Given the description of an element on the screen output the (x, y) to click on. 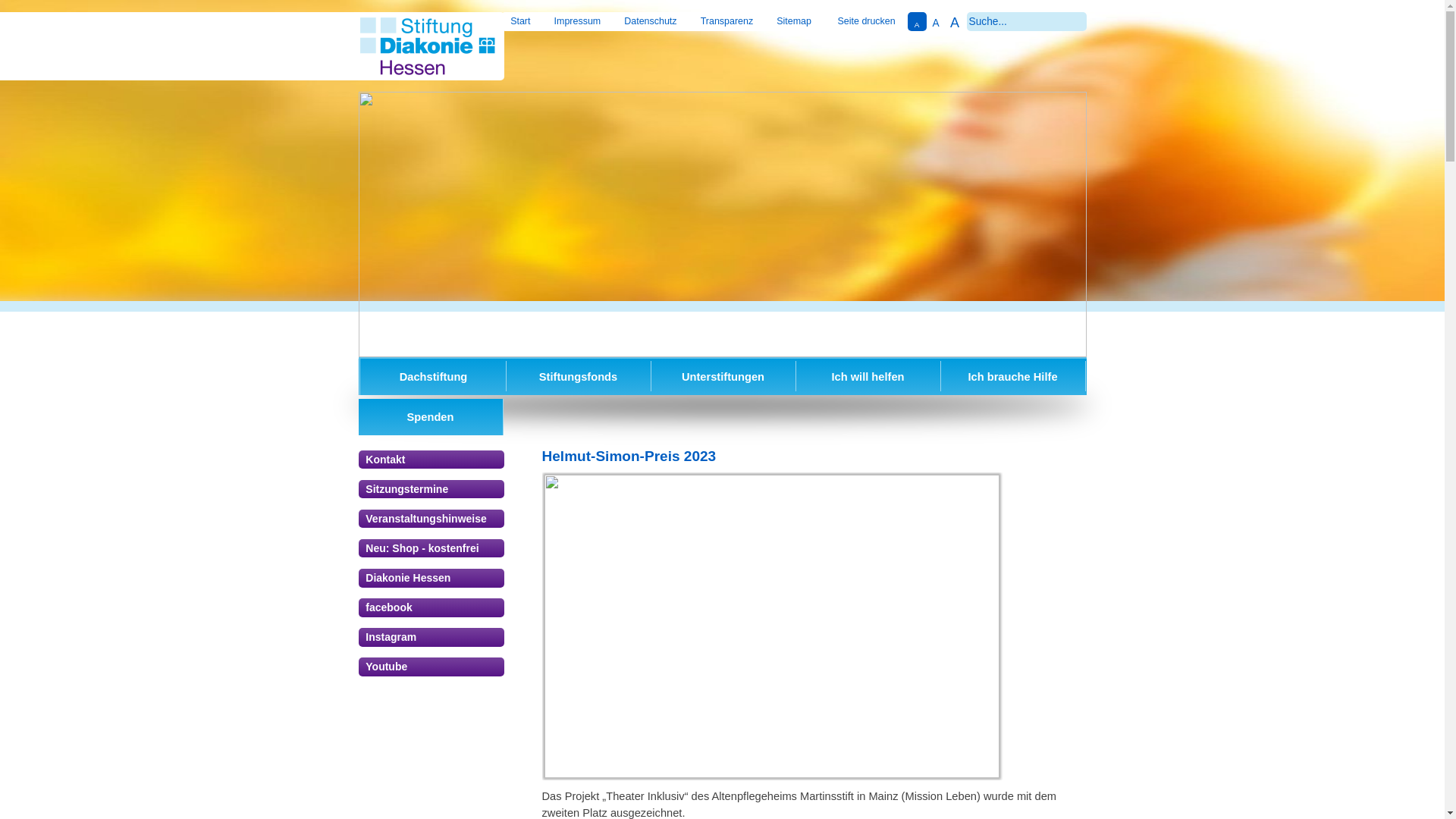
Kontakt Element type: text (430, 459)
A Element type: text (953, 21)
facebook Element type: text (430, 607)
Datenschutz Element type: text (650, 20)
Transparenz Element type: text (726, 20)
Instagram Element type: text (430, 636)
Neu: Shop - kostenfrei Element type: text (430, 548)
Ich will helfen Element type: text (868, 376)
Sitzungstermine Element type: text (430, 489)
Sitemap Element type: text (793, 20)
A Element type: text (916, 21)
Veranstaltungshinweise Element type: text (430, 518)
Impressum Element type: text (577, 20)
Seite drucken Element type: text (866, 20)
Start Element type: text (520, 20)
Spenden Element type: text (429, 416)
Stiftungsfonds Element type: text (578, 376)
A Element type: text (935, 21)
Diakonie Hessen Element type: text (430, 577)
Unterstiftungen Element type: text (722, 376)
Ich brauche Hilfe Element type: text (1012, 376)
Dachstiftung Element type: text (432, 376)
Youtube Element type: text (430, 666)
